Given the description of an element on the screen output the (x, y) to click on. 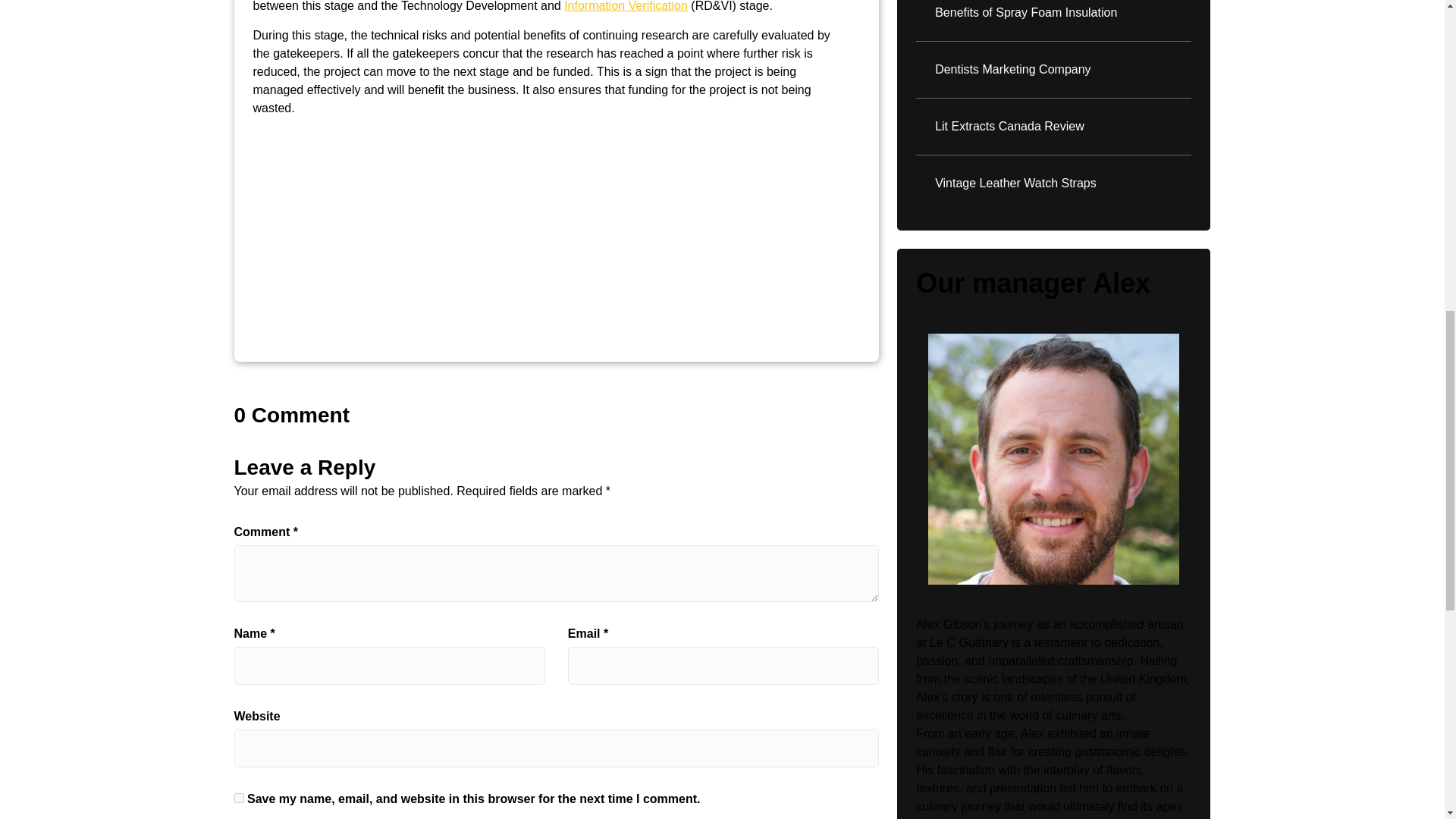
Dentists Marketing Company (1053, 69)
Lit Extracts Canada Review (1053, 126)
yes (237, 798)
Information Verification (625, 6)
Vintage Leather Watch Straps (1053, 183)
Benefits of Spray Foam Insulation (1053, 13)
